Given the description of an element on the screen output the (x, y) to click on. 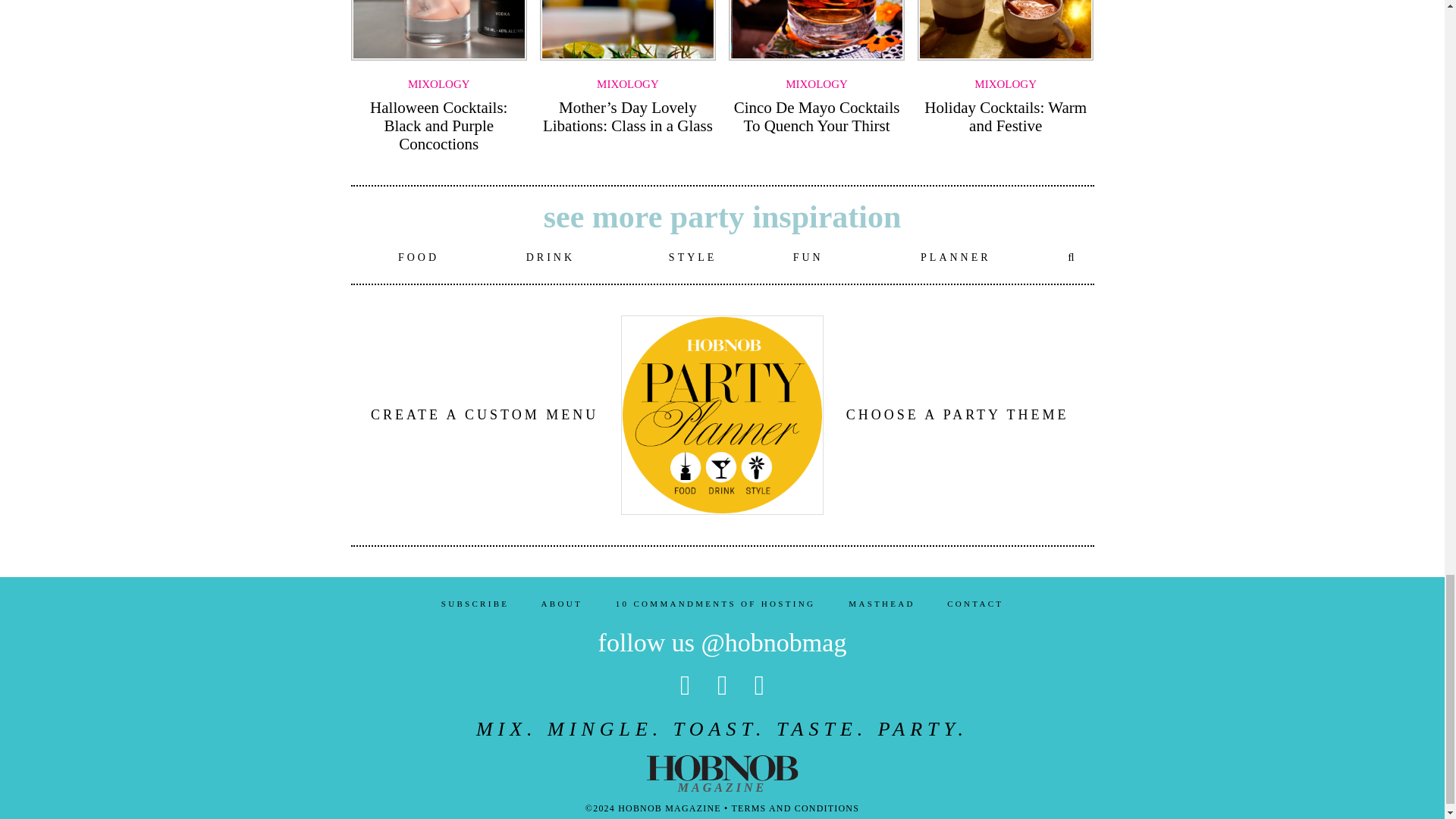
Holiday Cocktails: Warm and Festive (1005, 116)
Cinco De Mayo Cocktails To Quench Your Thirst (816, 116)
Halloween Cocktails: Black and Purple Concoctions (437, 125)
